Given the description of an element on the screen output the (x, y) to click on. 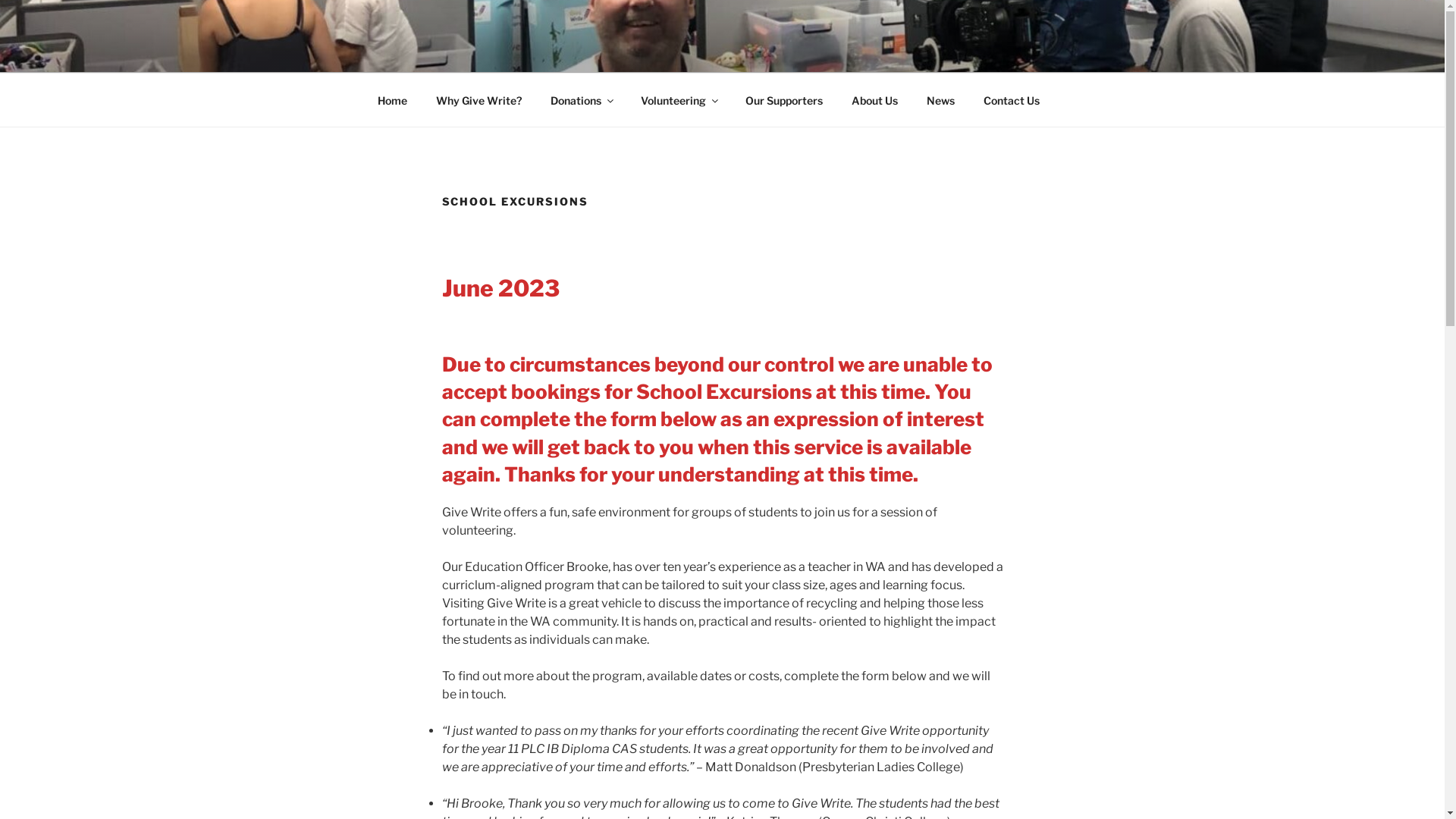
Volunteering Element type: text (678, 100)
Home Element type: text (392, 100)
GIVE WRITE Element type: text (474, 52)
Contact Us Element type: text (1011, 100)
Why Give Write? Element type: text (479, 100)
About Us Element type: text (874, 100)
Our Supporters Element type: text (784, 100)
Donations Element type: text (580, 100)
News Element type: text (940, 100)
